Given the description of an element on the screen output the (x, y) to click on. 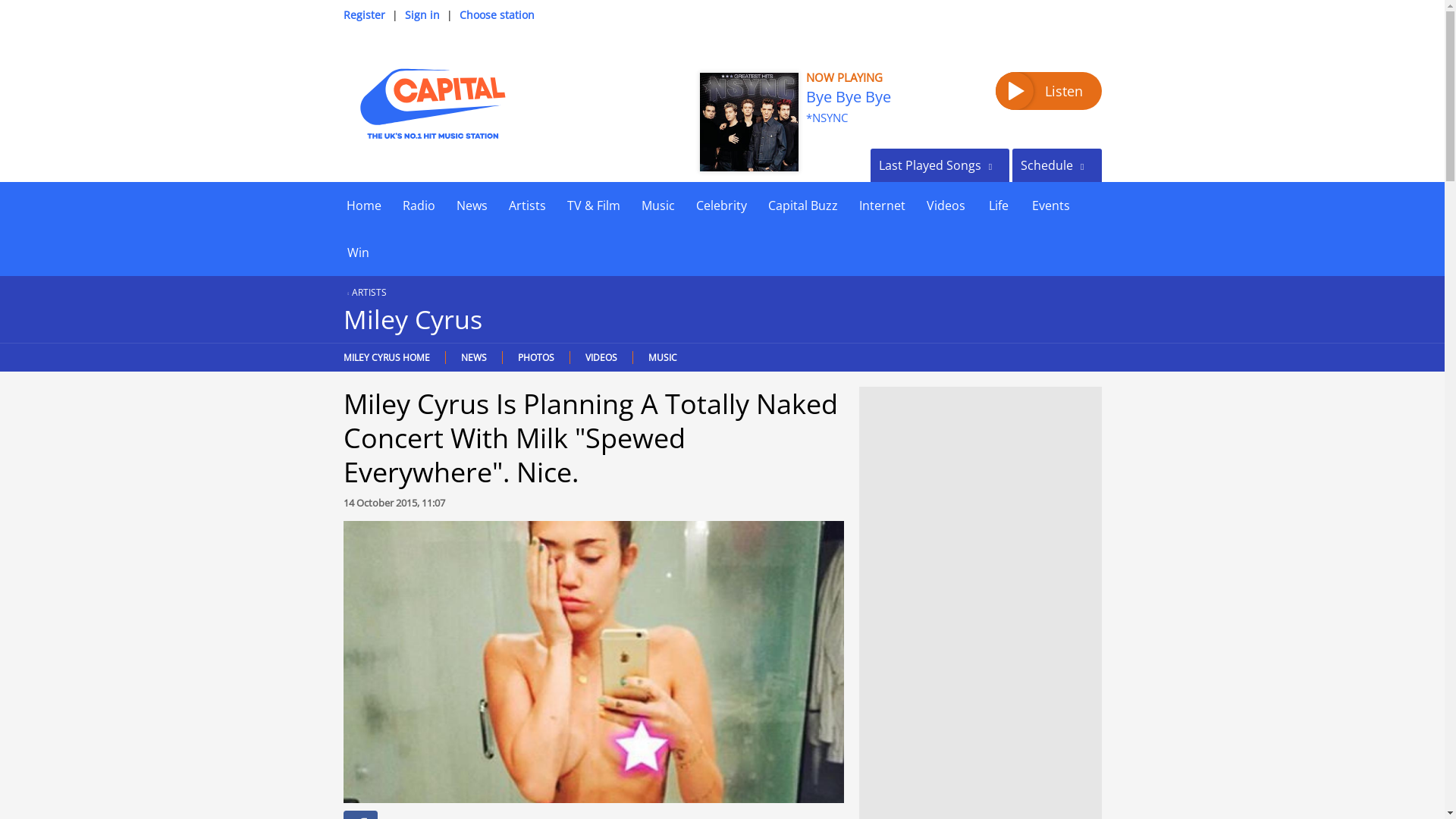
News (471, 205)
Music (657, 205)
Events (1050, 205)
Home (362, 205)
VIDEOS (600, 357)
ARTISTS (364, 291)
Schedule (1055, 164)
PHOTOS (535, 357)
Sign in (421, 14)
